Given the description of an element on the screen output the (x, y) to click on. 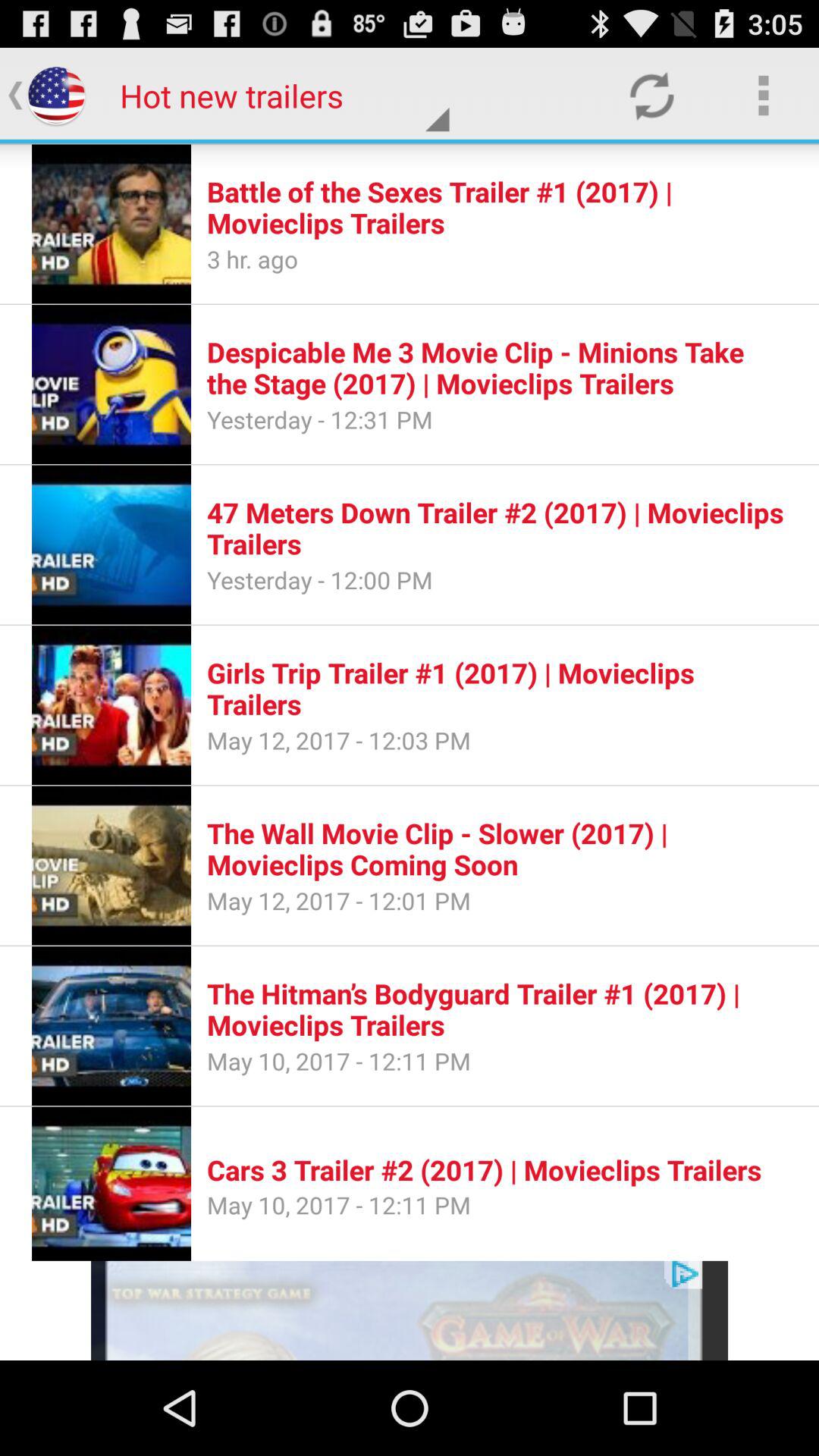
go to external advertisement (409, 1310)
